Given the description of an element on the screen output the (x, y) to click on. 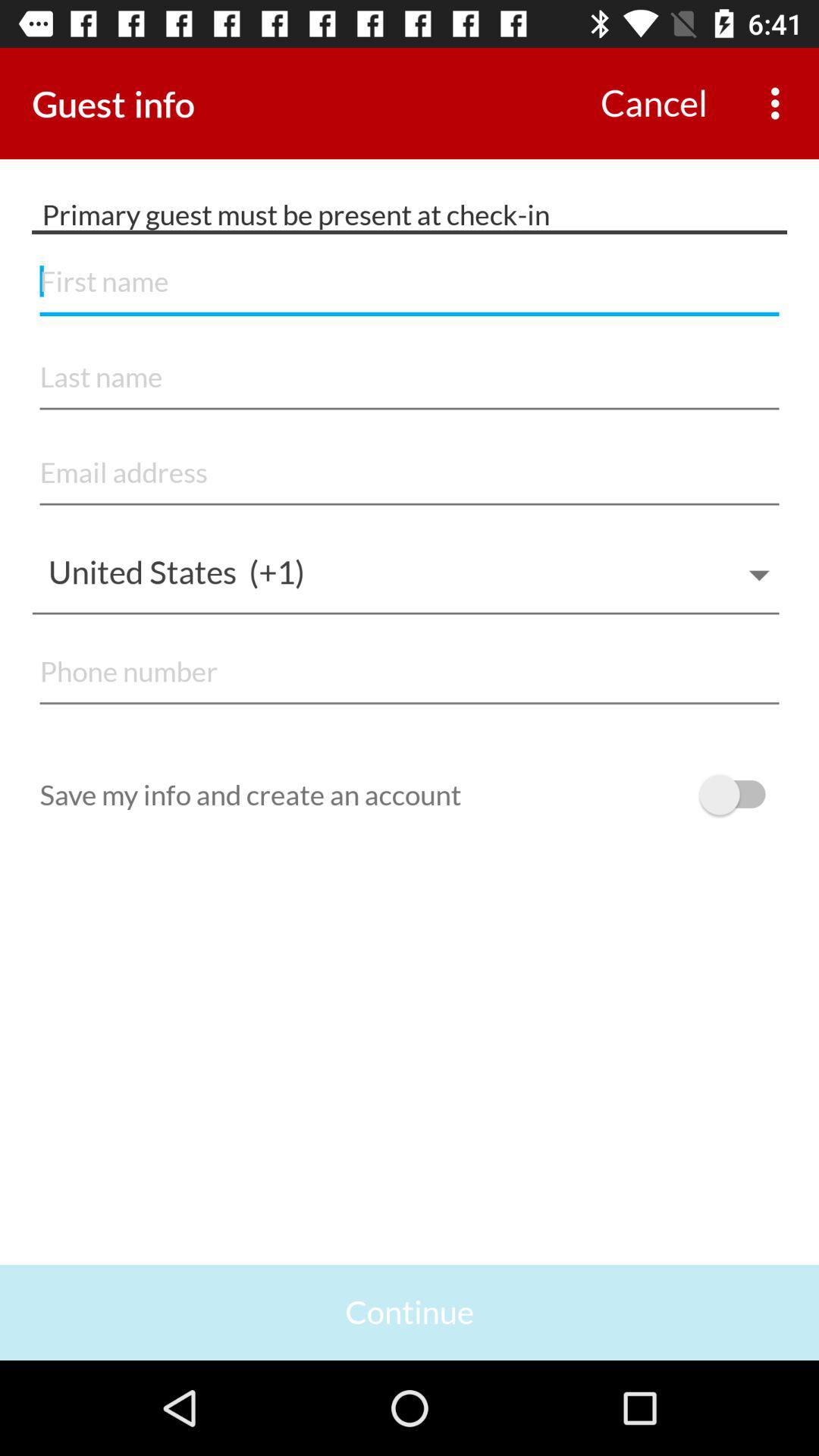
enter name (409, 281)
